Given the description of an element on the screen output the (x, y) to click on. 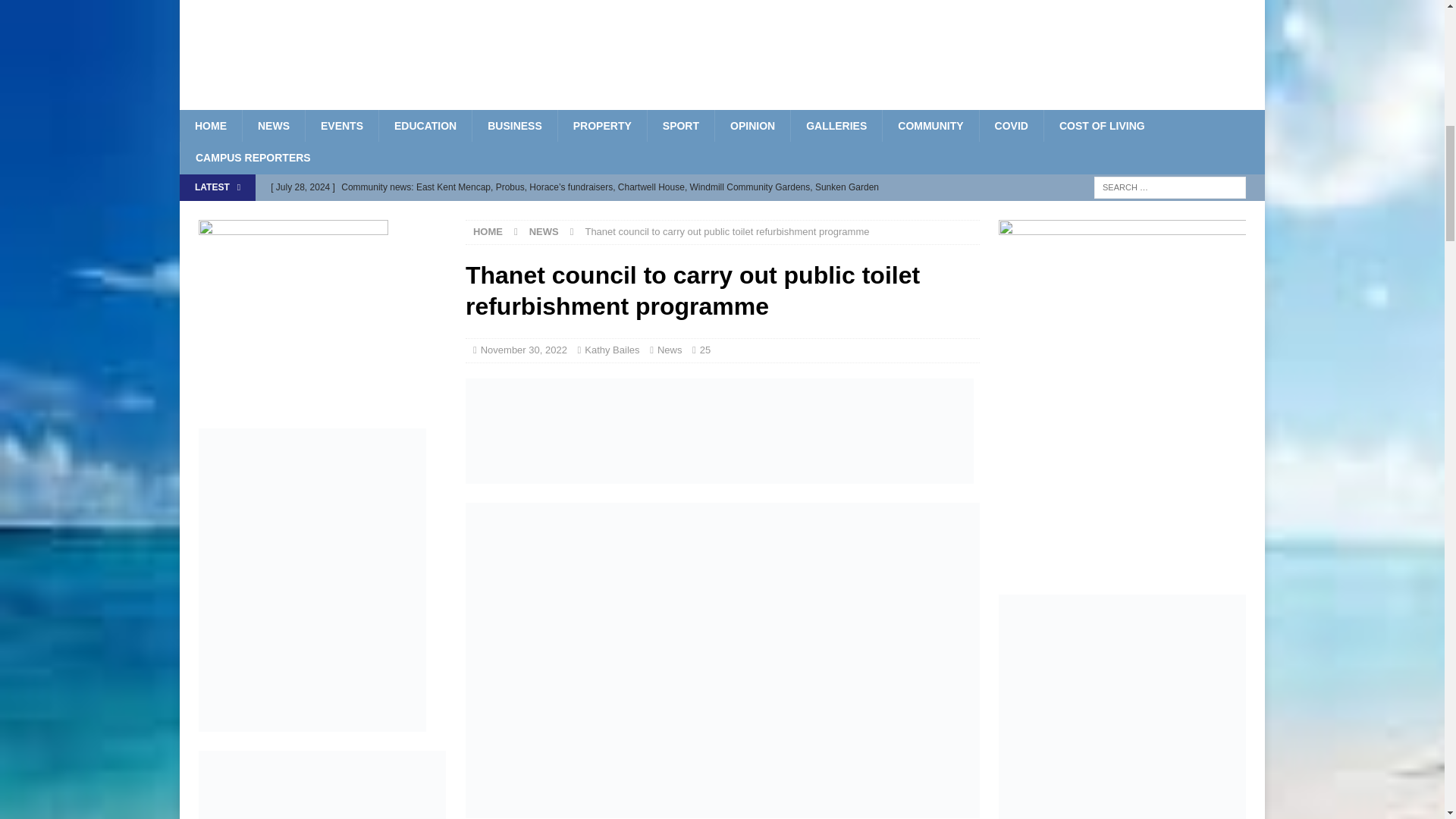
25 (705, 349)
